Given the description of an element on the screen output the (x, y) to click on. 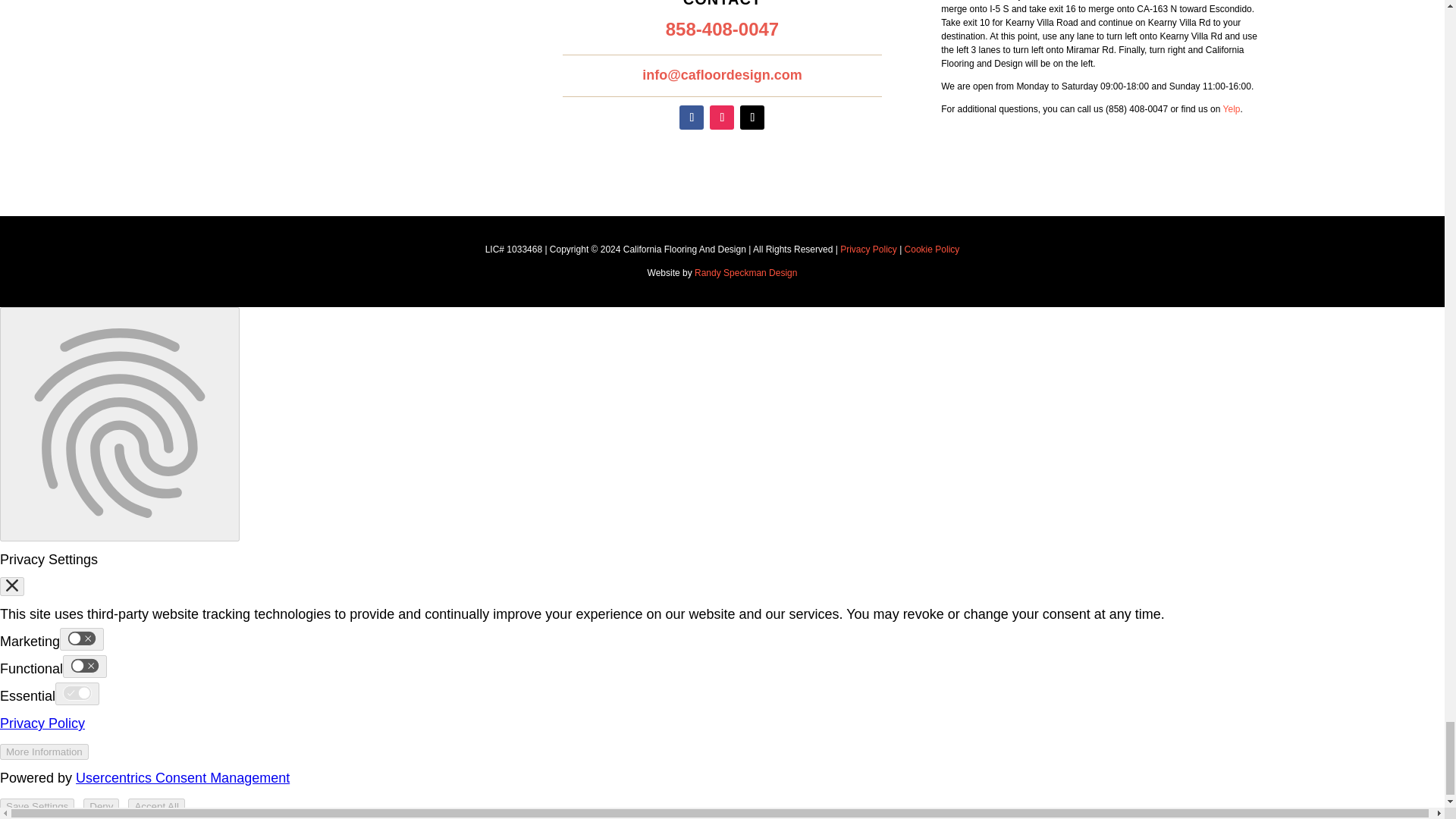
Follow on Instagram (721, 117)
Follow on Facebook (691, 117)
Follow on X (751, 117)
